Given the description of an element on the screen output the (x, y) to click on. 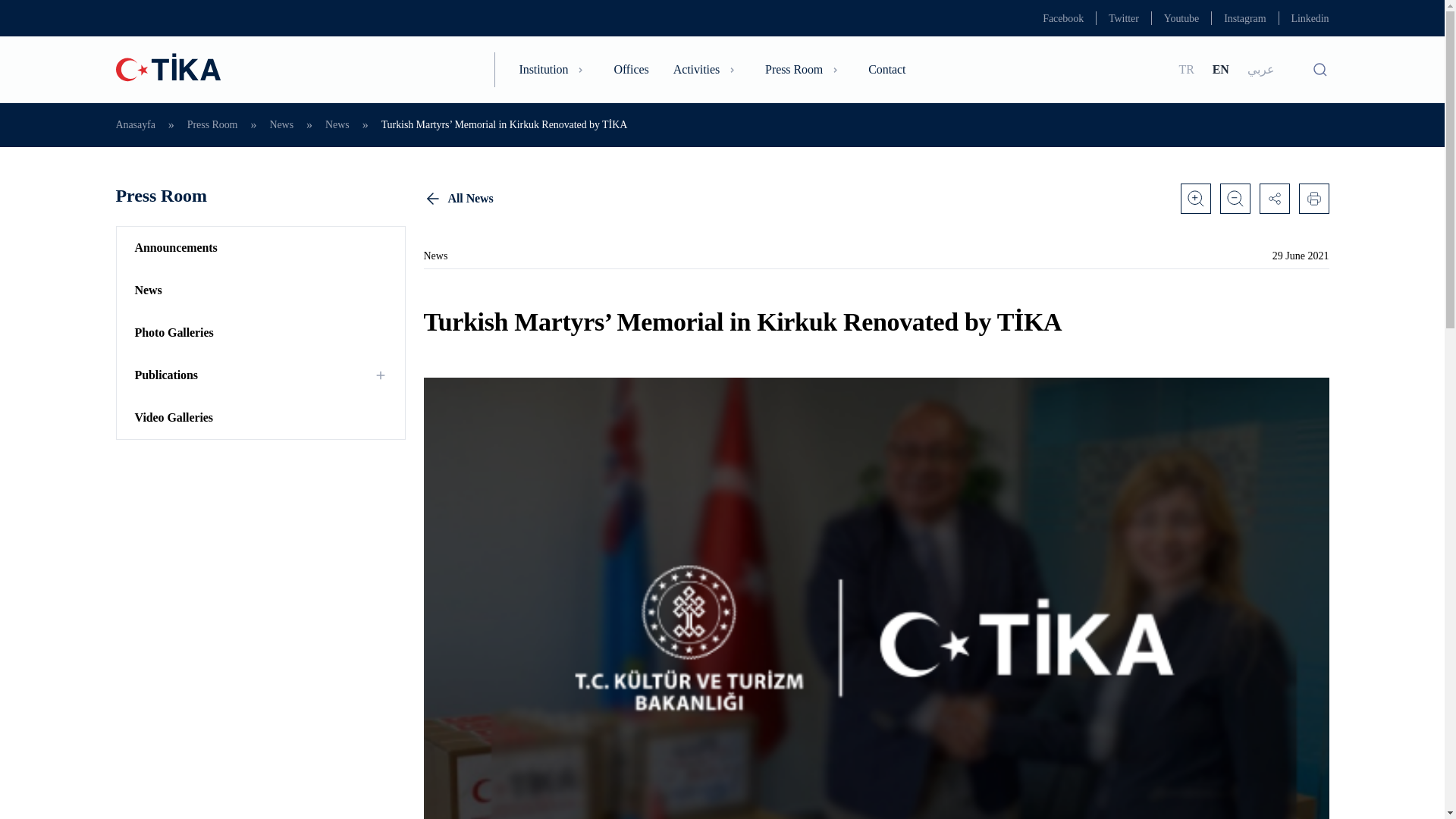
Press Room (875, 259)
All News (804, 69)
1 - 1 (875, 198)
Activities (259, 195)
Linkedin (706, 69)
Youtube (1308, 18)
Facebook (1180, 18)
Instagram (1062, 18)
Twitter (1244, 18)
Institution (1123, 18)
